Given the description of an element on the screen output the (x, y) to click on. 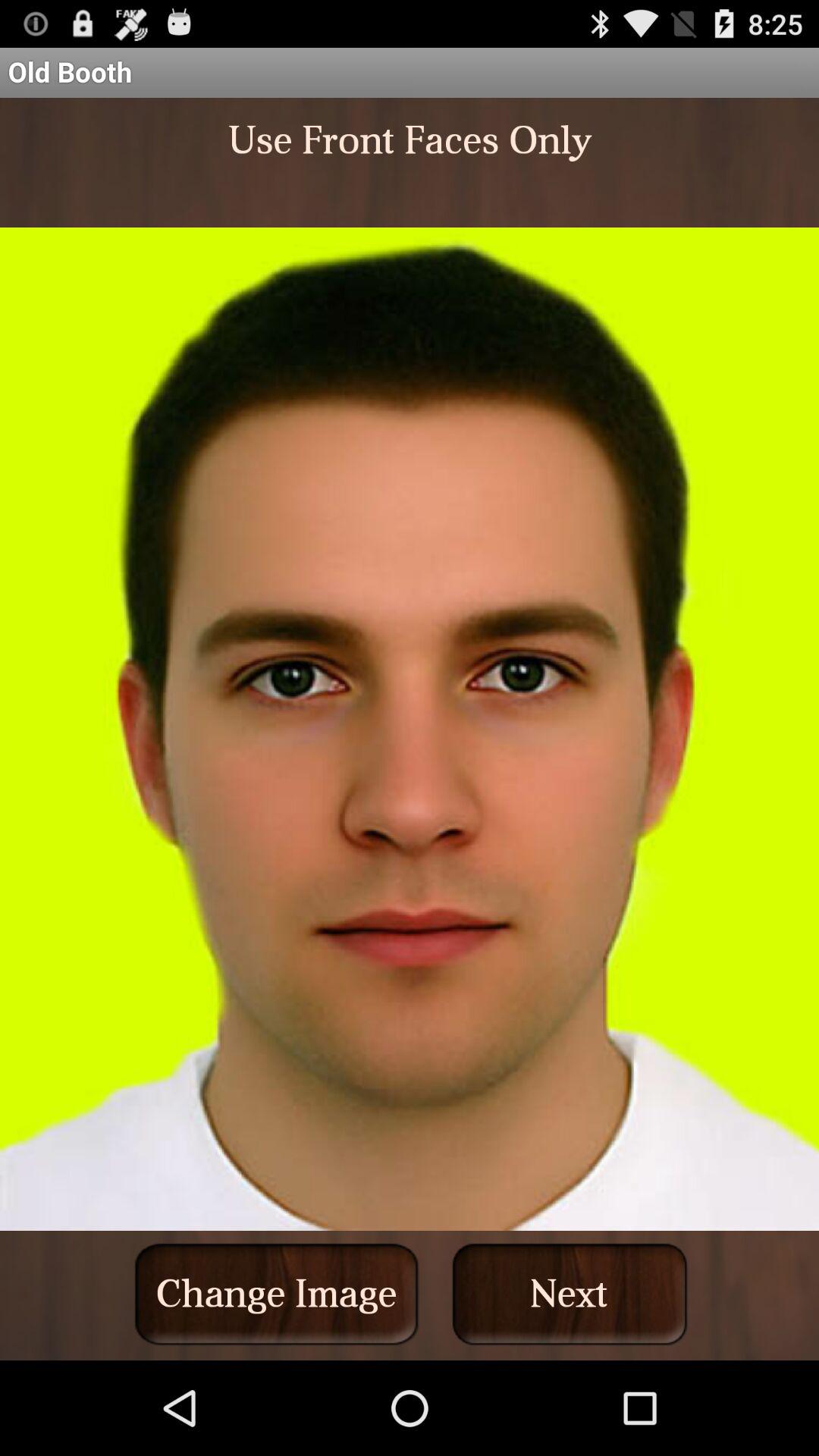
launch the button to the left of next (276, 1293)
